Given the description of an element on the screen output the (x, y) to click on. 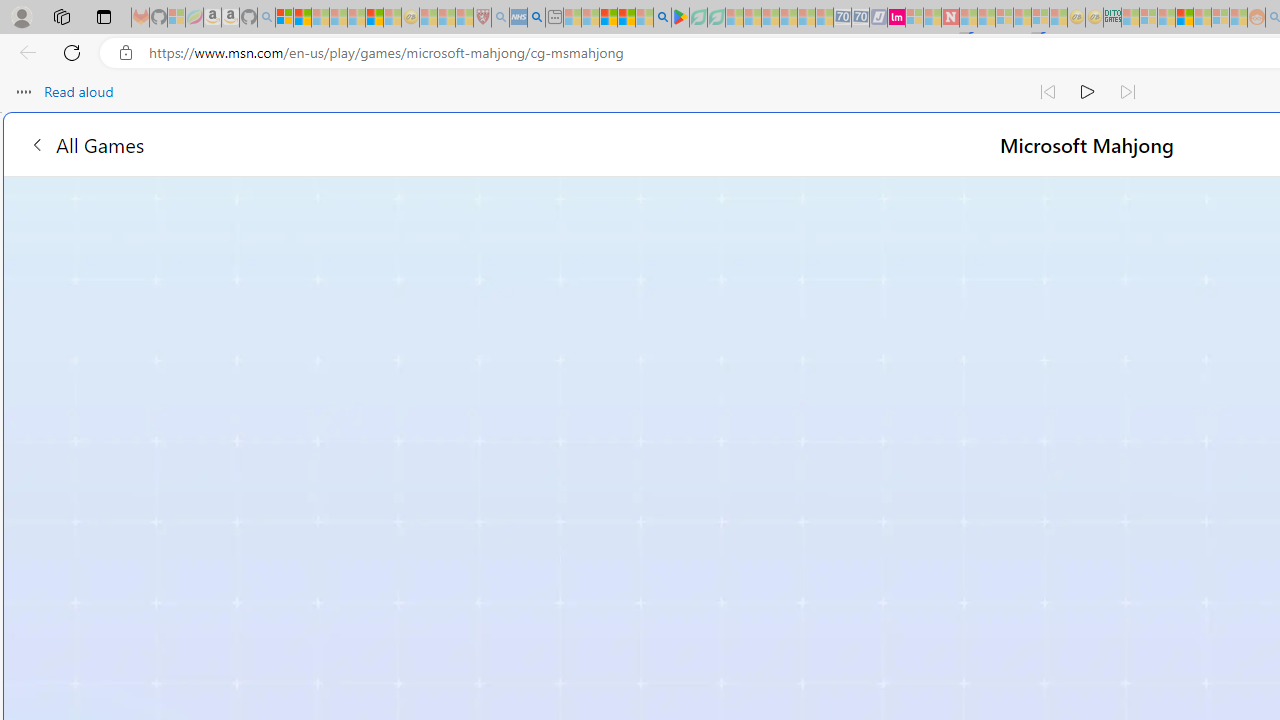
Jobs - lastminute.com Investor Portal (896, 17)
Microsoft-Report a Concern to Bing - Sleeping (176, 17)
Terms of Use Agreement - Sleeping (697, 17)
Kinda Frugal - MSN - Sleeping (1202, 17)
Expert Portfolios (1184, 17)
Microsoft account | Privacy (284, 17)
Personal Profile (21, 16)
